Given the description of an element on the screen output the (x, y) to click on. 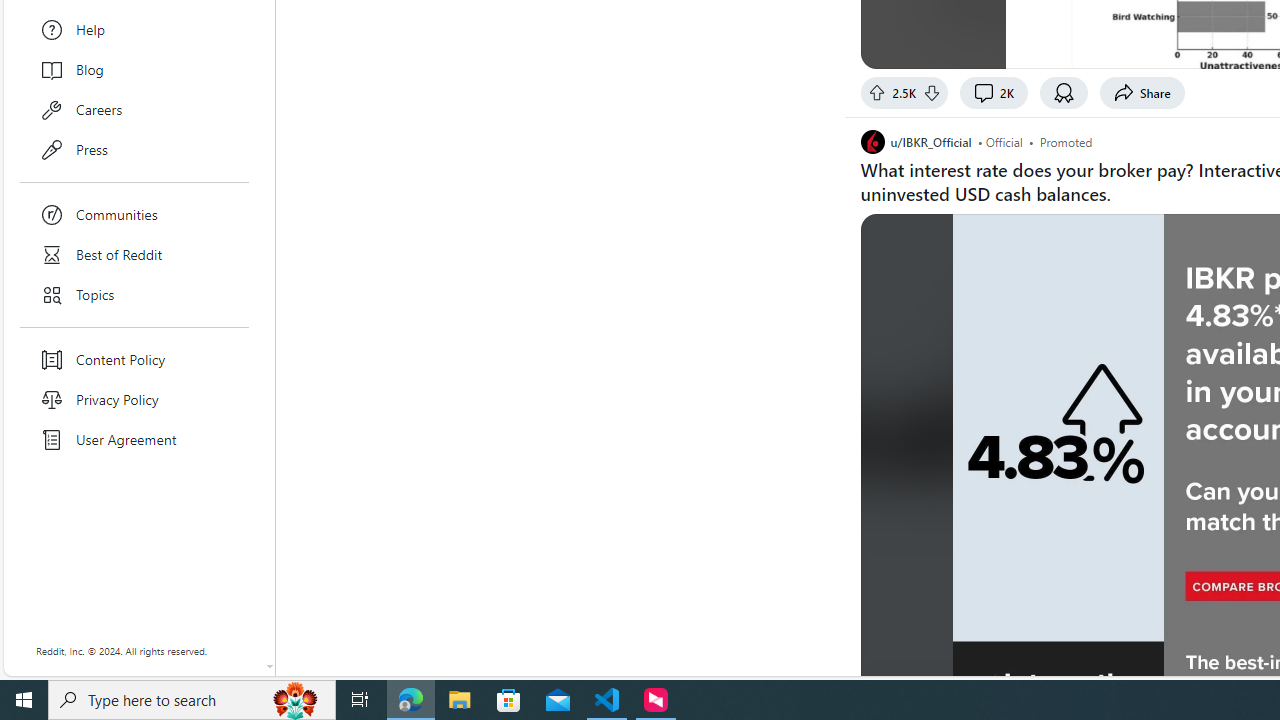
u/IBKR_Official avatar u/IBKR_Official (915, 141)
2K comments (994, 92)
User Agreement (134, 439)
Topics (134, 295)
Careers (134, 110)
Give award (1064, 92)
Downvote (932, 92)
Share Share (1142, 92)
Press (134, 149)
Communities (134, 214)
Best of Reddit (134, 254)
u/IBKR_Official avatar (872, 142)
Upvote (876, 92)
Promoted (1066, 141)
